Given the description of an element on the screen output the (x, y) to click on. 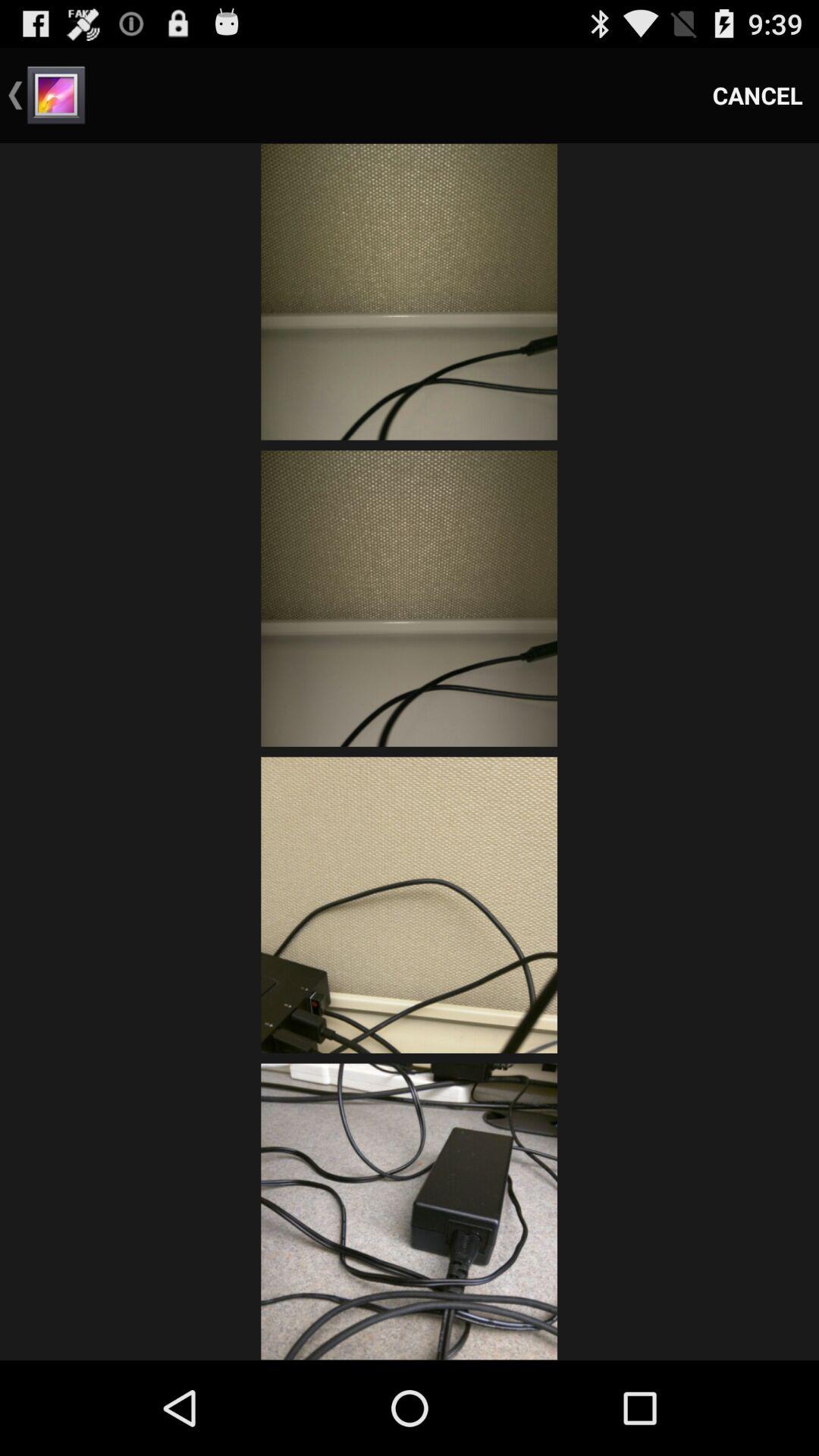
tap the cancel at the top right corner (757, 95)
